Given the description of an element on the screen output the (x, y) to click on. 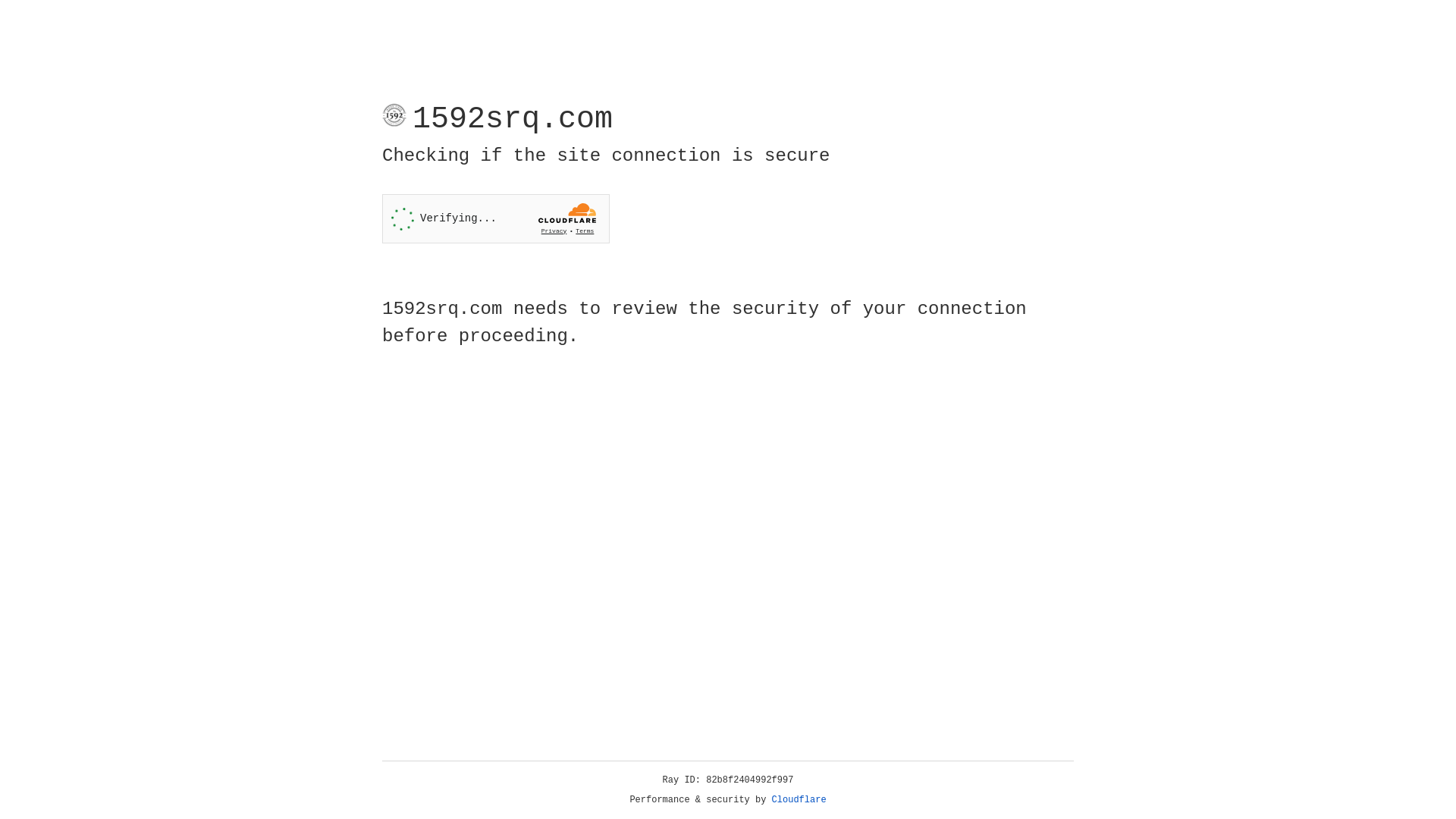
Cloudflare Element type: text (798, 799)
Widget containing a Cloudflare security challenge Element type: hover (495, 218)
